Given the description of an element on the screen output the (x, y) to click on. 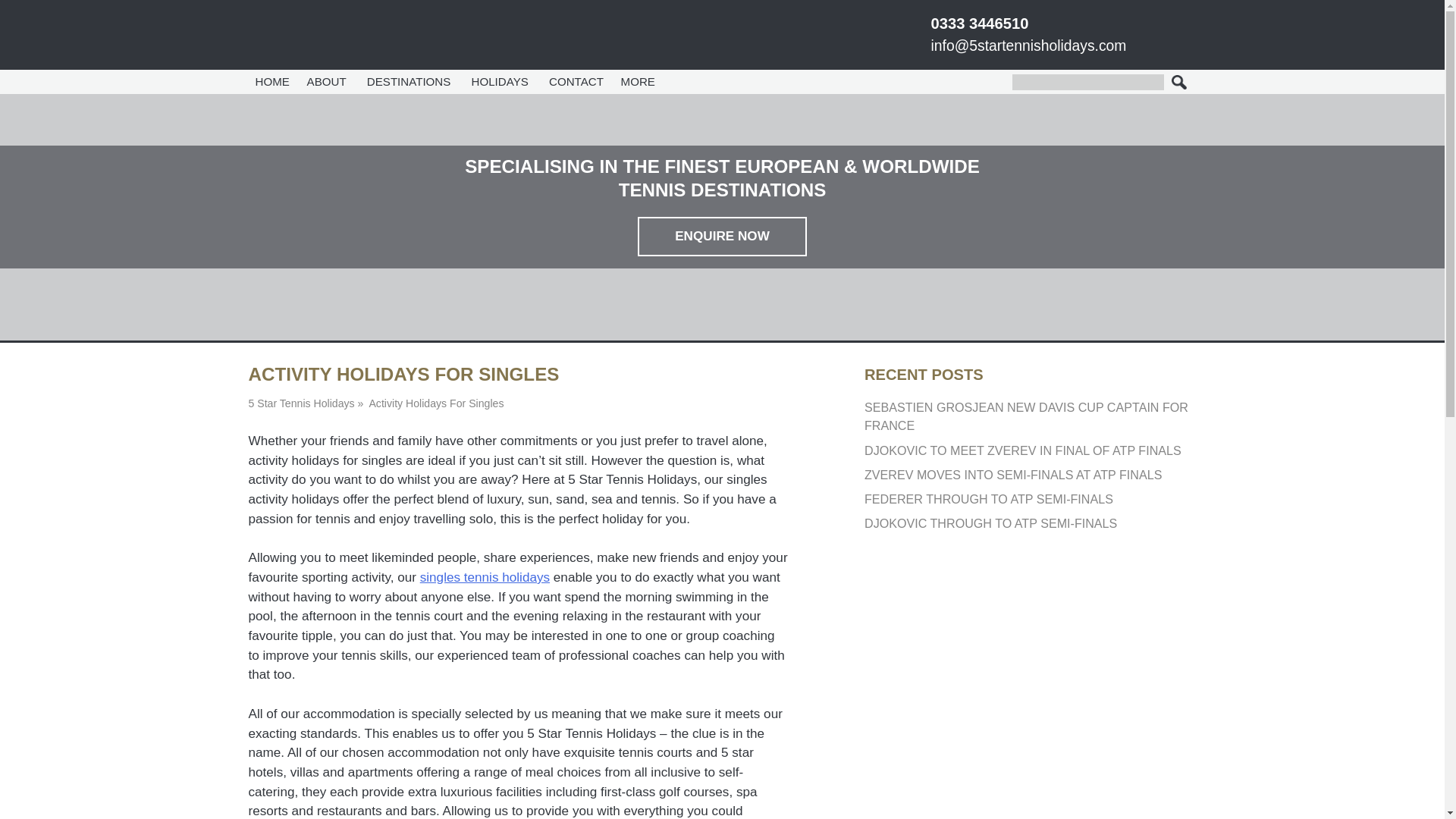
DESTINATIONS (410, 81)
5 Star Tennis Holidays (329, 33)
YouTube (1122, 25)
Instagram (1102, 25)
HOLIDAYS (501, 81)
CONTACT (575, 81)
singles tennis holidays (485, 576)
HOME (272, 81)
ENQUIRE NOW (722, 237)
5 Star Tennis Holidays (301, 403)
Facebook (1042, 25)
ABOUT (327, 81)
MORE (639, 81)
0333 3446510 (980, 23)
Twitter (1063, 25)
